Given the description of an element on the screen output the (x, y) to click on. 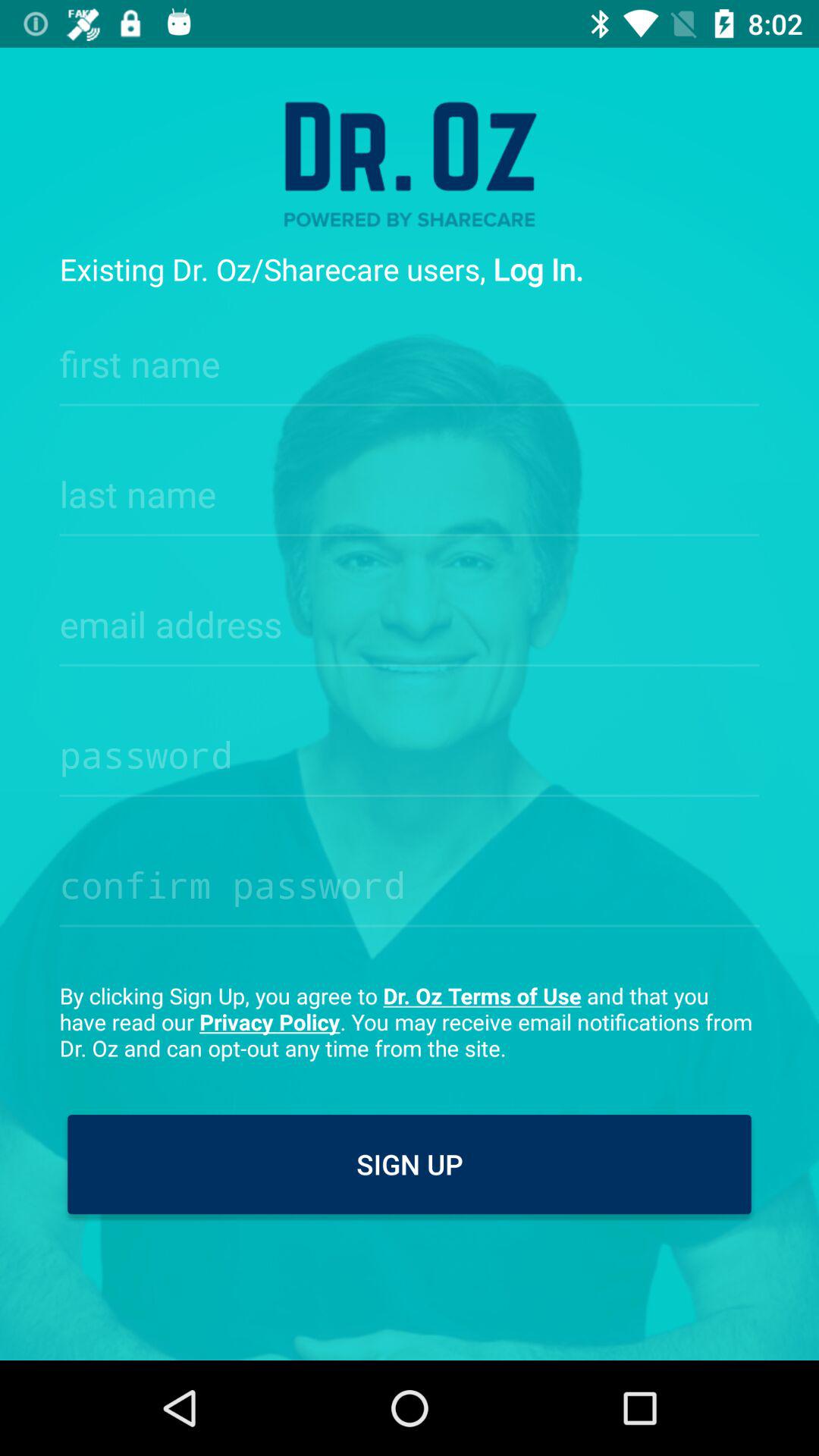
flip until the by clicking sign (409, 1021)
